Given the description of an element on the screen output the (x, y) to click on. 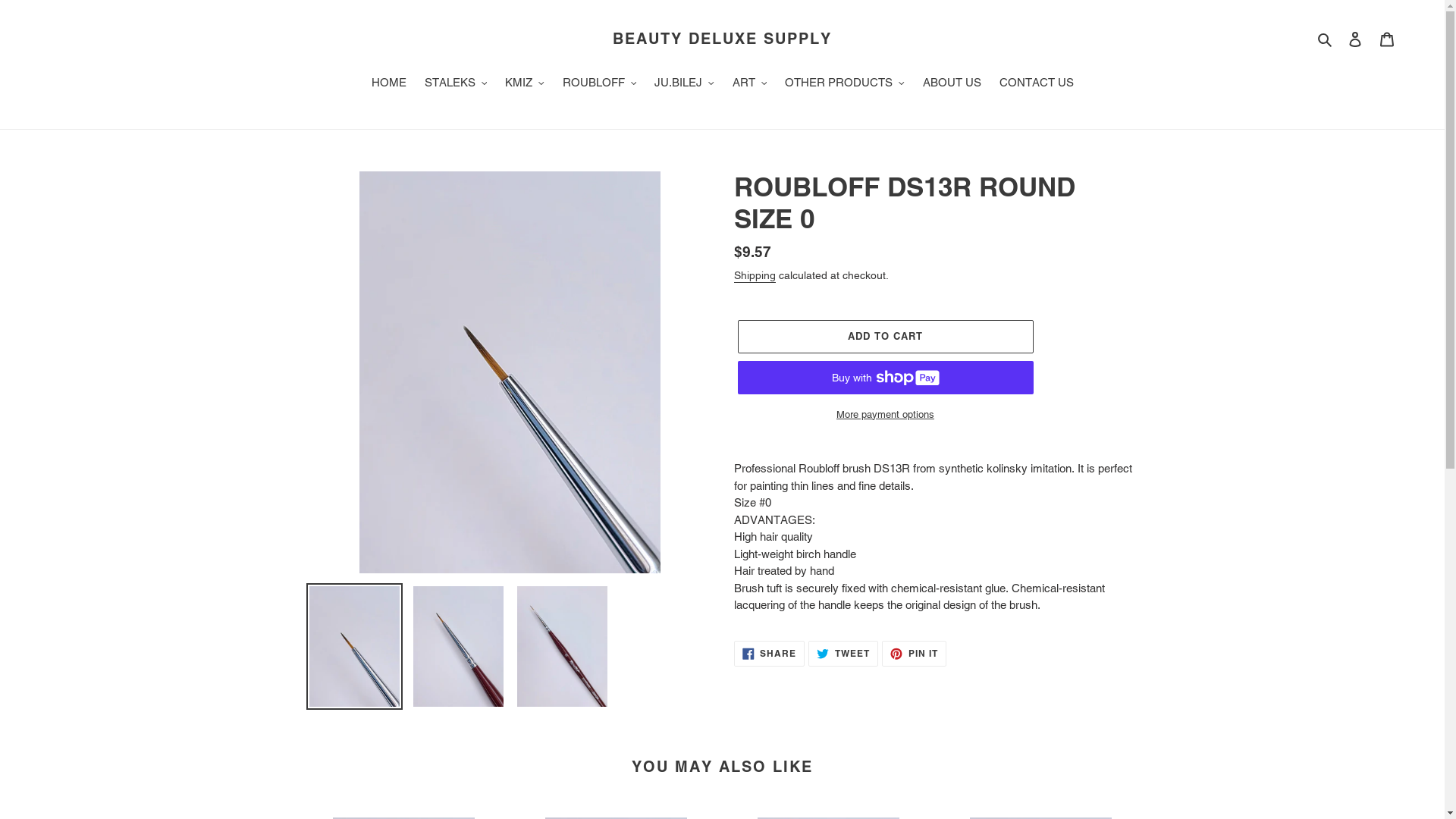
SHARE
SHARE ON FACEBOOK Element type: text (769, 653)
PIN IT
PIN ON PINTEREST Element type: text (913, 653)
ART Element type: text (749, 84)
BEAUTY DELUXE SUPPLY Element type: text (721, 38)
STALEKS Element type: text (456, 84)
HOME Element type: text (389, 84)
ROUBLOFF Element type: text (599, 84)
Cart Element type: text (1386, 38)
Shipping Element type: text (754, 275)
OTHER PRODUCTS Element type: text (844, 84)
ADD TO CART Element type: text (884, 336)
Log in Element type: text (1355, 38)
JU.BILEJ Element type: text (683, 84)
ABOUT US Element type: text (951, 84)
Search Element type: text (1325, 38)
TWEET
TWEET ON TWITTER Element type: text (843, 653)
More payment options Element type: text (884, 414)
KMIZ Element type: text (524, 84)
CONTACT US Element type: text (1036, 84)
